Given the description of an element on the screen output the (x, y) to click on. 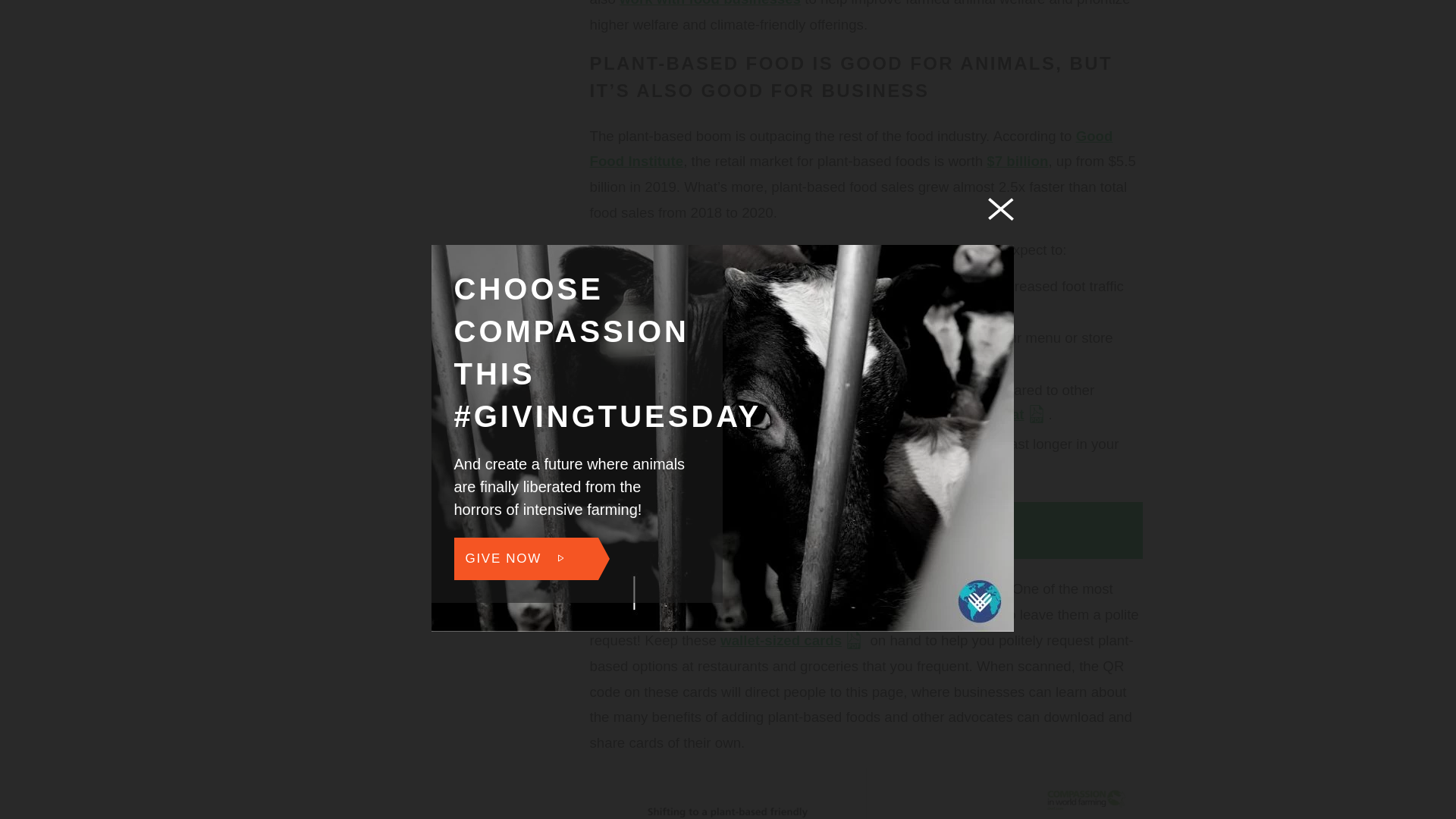
work with food businesses (710, 3)
